Given the description of an element on the screen output the (x, y) to click on. 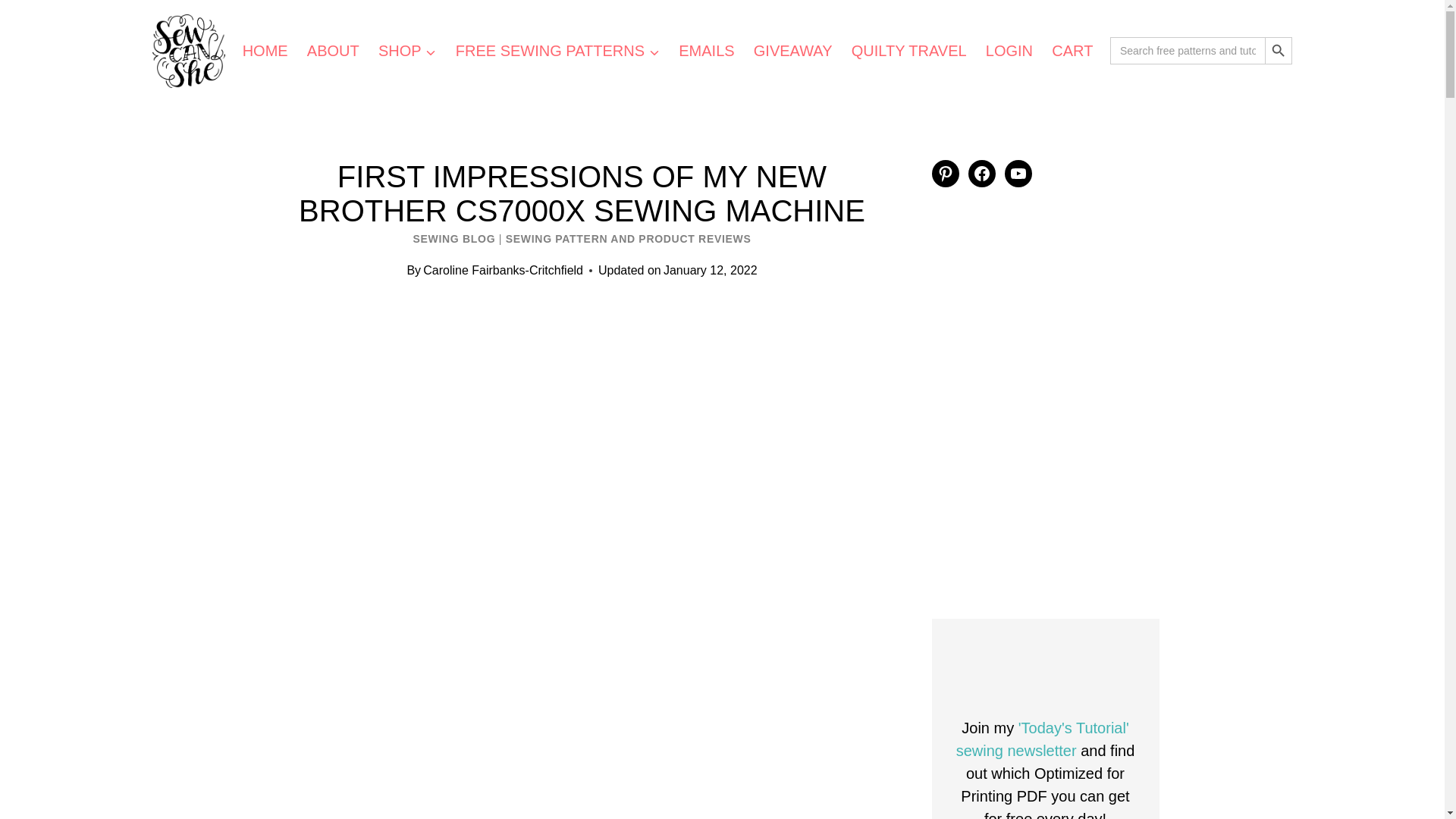
ABOUT (332, 50)
GIVEAWAY (792, 50)
Search Button (1278, 50)
SEWING PATTERN AND PRODUCT REVIEWS (628, 238)
HOME (264, 50)
SHOP (406, 50)
EMAILS (706, 50)
SEWING BLOG (453, 238)
CART (1072, 50)
FREE SEWING PATTERNS (556, 50)
